Given the description of an element on the screen output the (x, y) to click on. 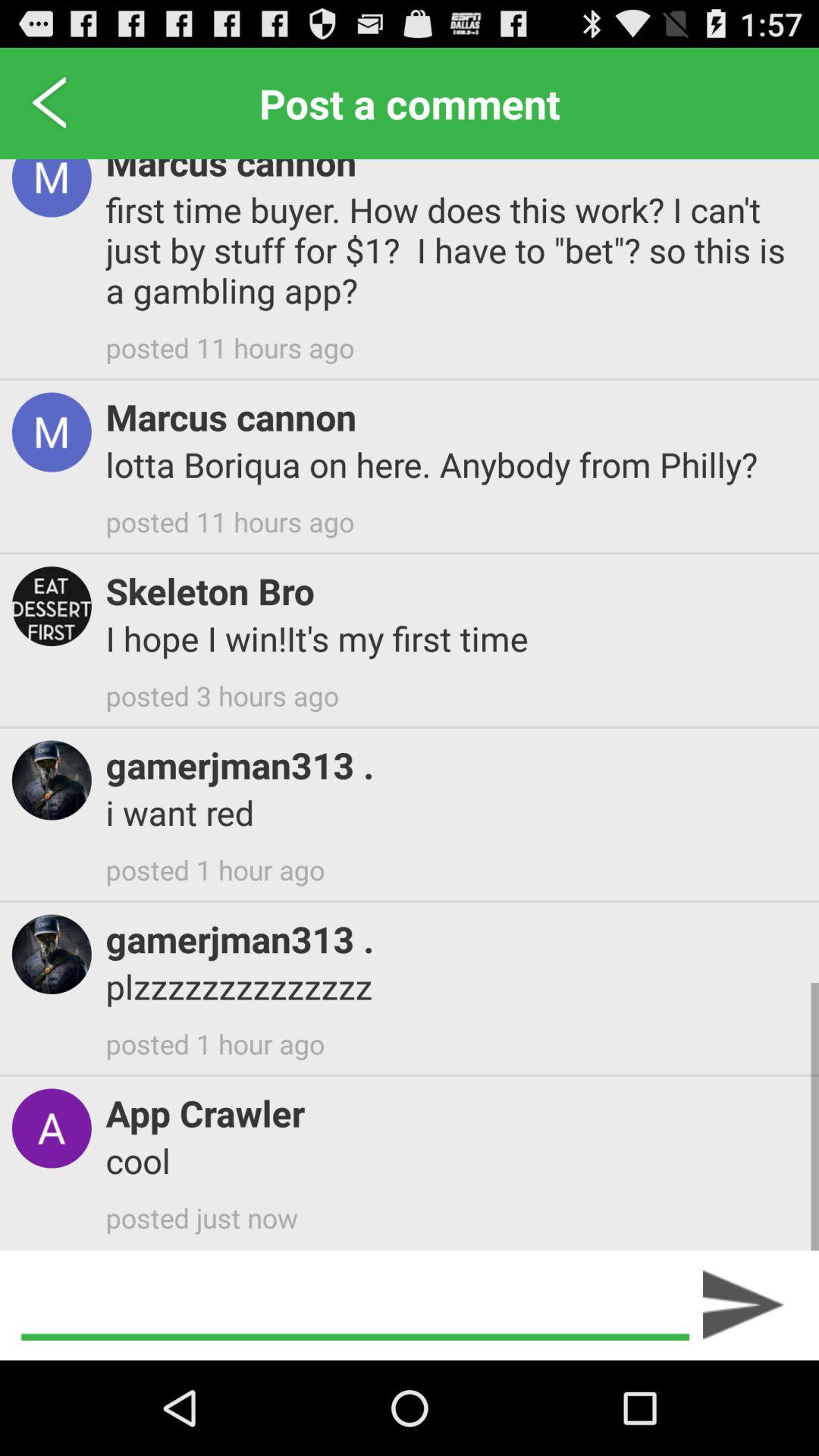
turn on the item below posted just now (354, 1305)
